Given the description of an element on the screen output the (x, y) to click on. 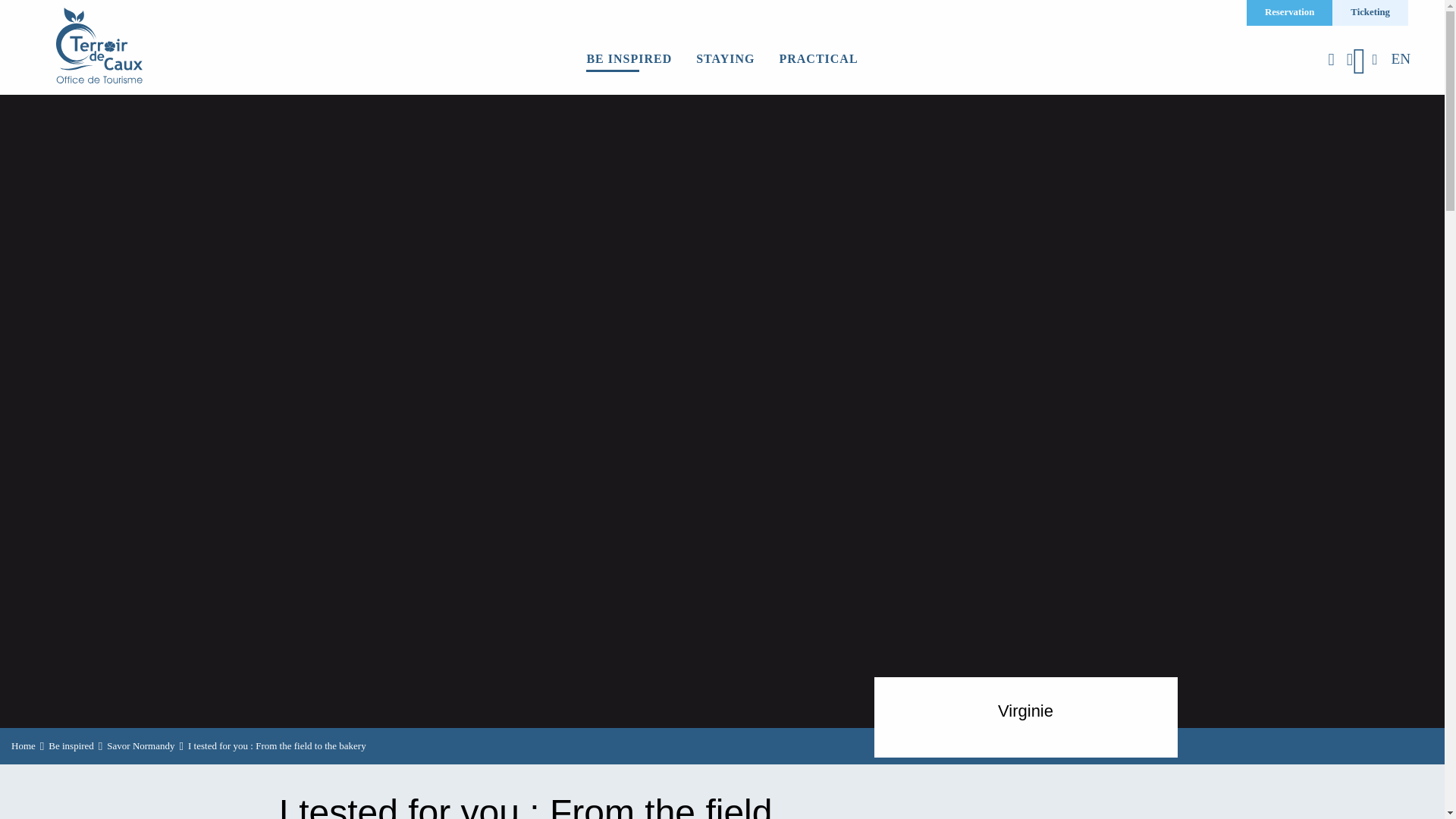
Be inspired (71, 745)
Home (22, 745)
Savor Normandy (140, 745)
